Given the description of an element on the screen output the (x, y) to click on. 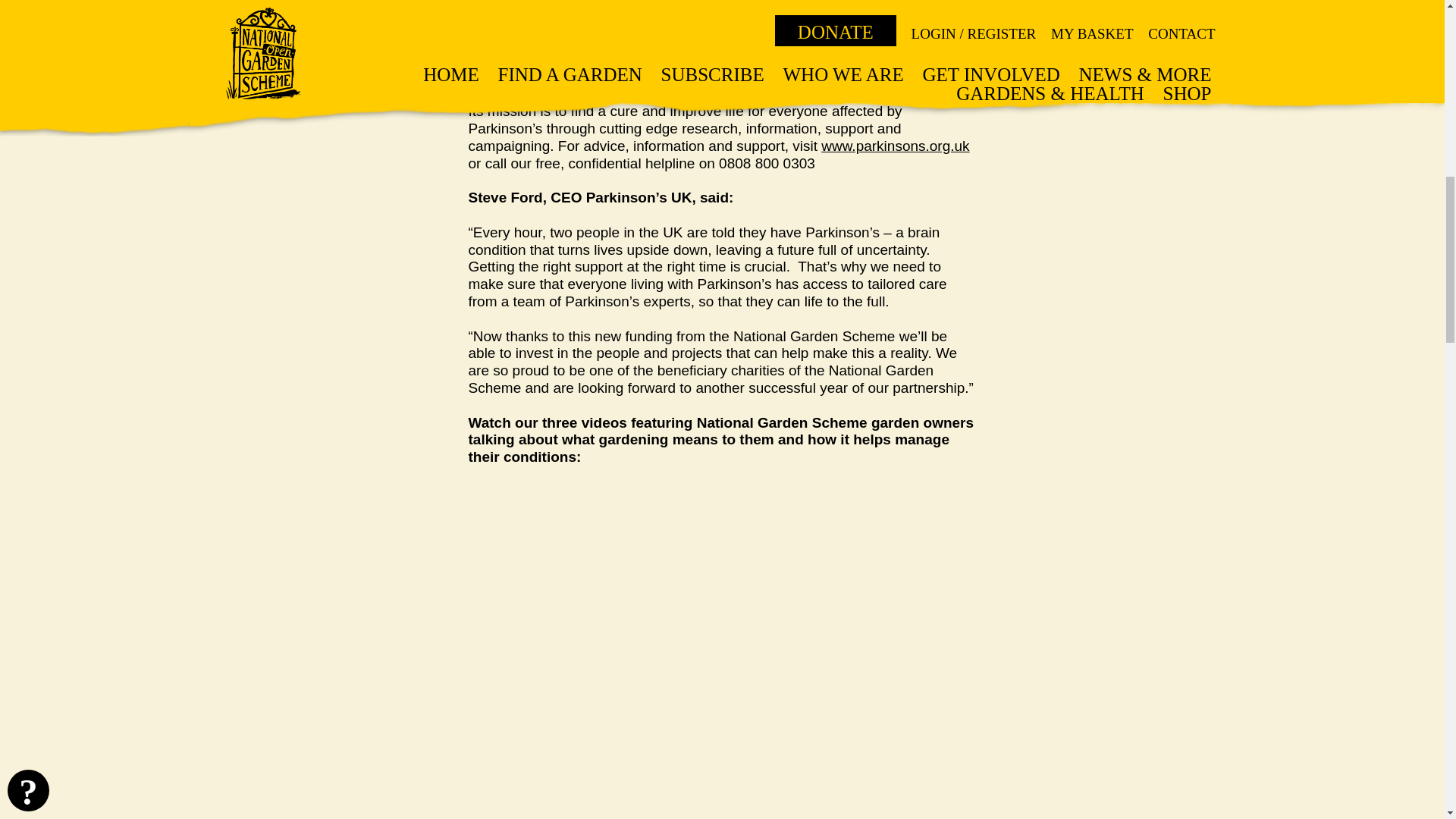
YouTube video player (680, 781)
YouTube video player (680, 603)
